Given the description of an element on the screen output the (x, y) to click on. 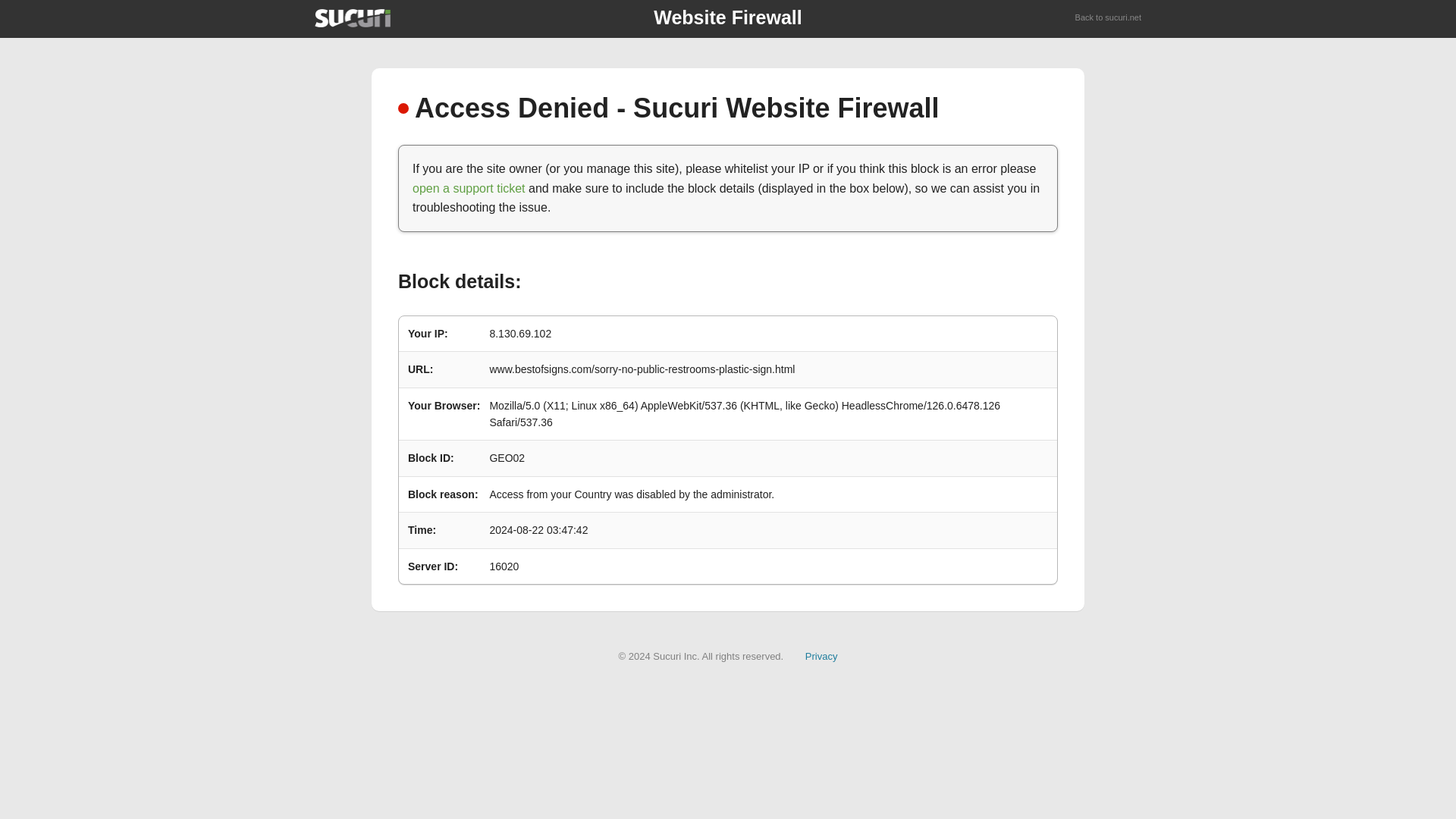
Privacy (821, 655)
open a support ticket (468, 187)
Back to sucuri.net (1108, 18)
